Given the description of an element on the screen output the (x, y) to click on. 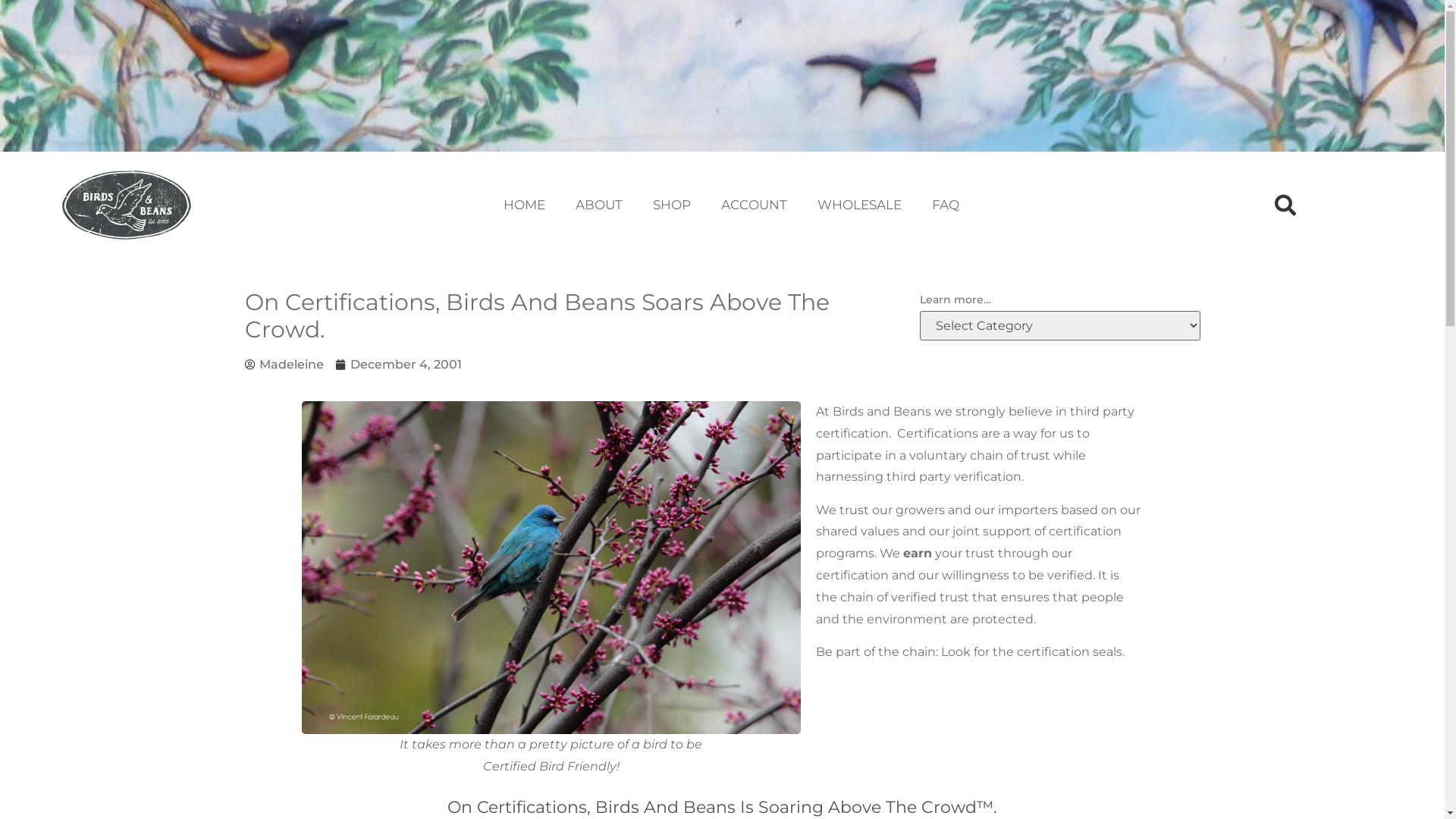
HOME Element type: text (524, 204)
WHOLESALE Element type: text (859, 204)
ACCOUNT Element type: text (754, 204)
December 4, 2001 Element type: text (398, 364)
SHOP Element type: text (671, 204)
ABOUT Element type: text (598, 204)
FAQ Element type: text (945, 204)
Madeleine Element type: text (283, 364)
